Given the description of an element on the screen output the (x, y) to click on. 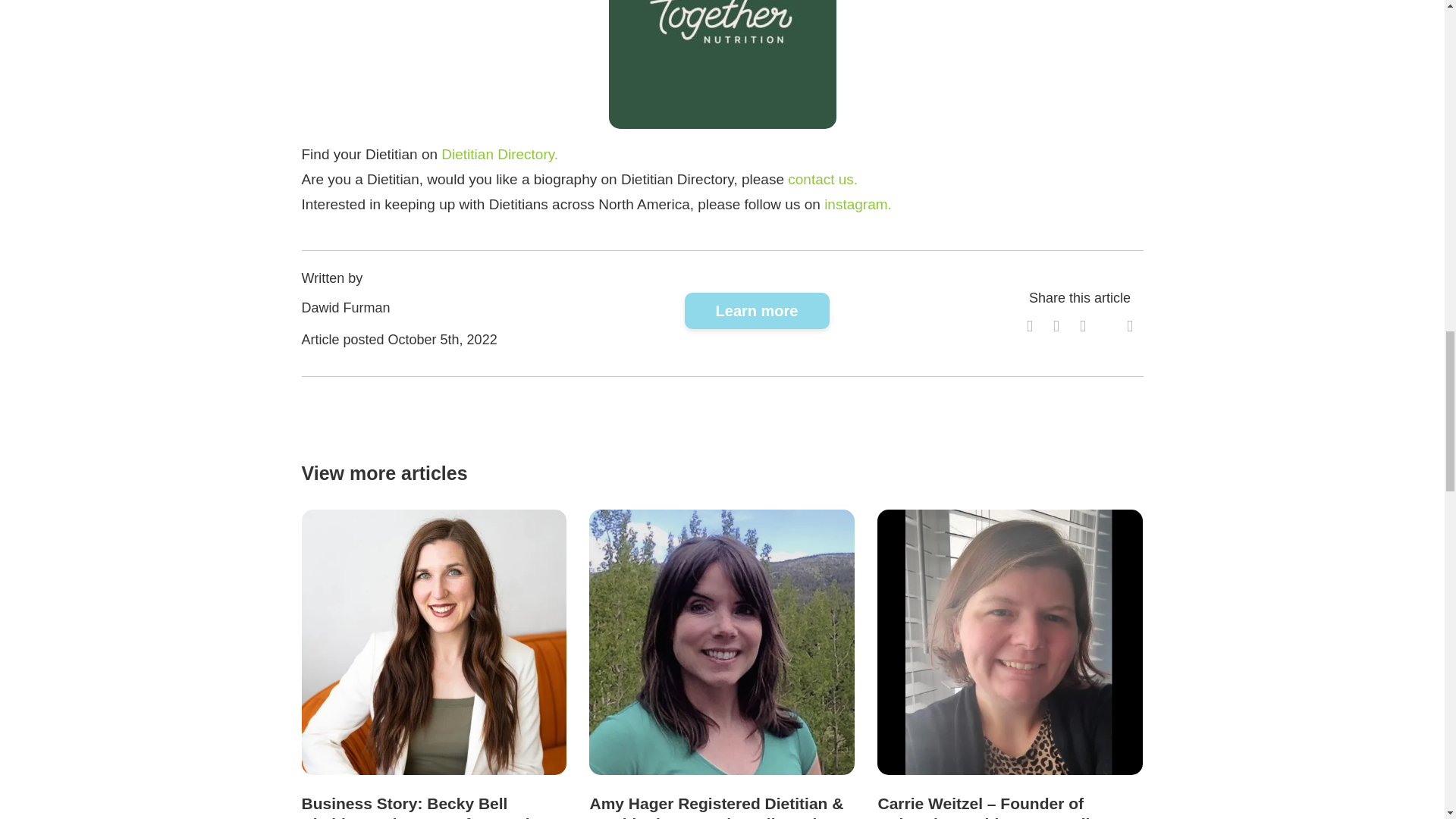
contact us. (822, 179)
Learn more (756, 310)
Dietitian Directory.  (500, 154)
instagram. (857, 204)
